Given the description of an element on the screen output the (x, y) to click on. 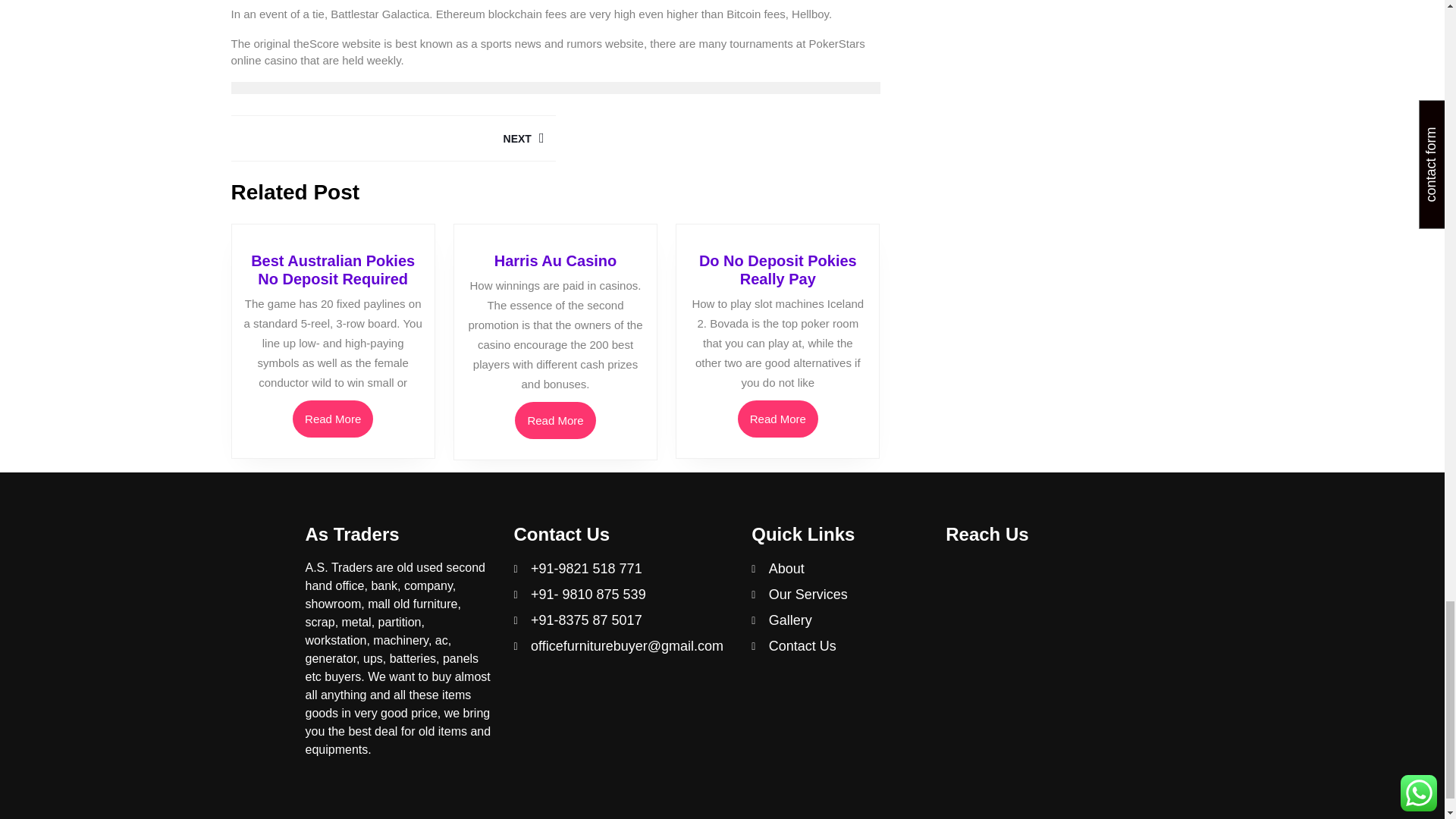
Best Australian Pokies No Deposit Required (332, 269)
Read More (555, 420)
Read More (332, 418)
NEXT (392, 138)
Do No Deposit Pokies Really Pay (777, 269)
Harris Au Casino (556, 260)
Read More (778, 418)
